Given the description of an element on the screen output the (x, y) to click on. 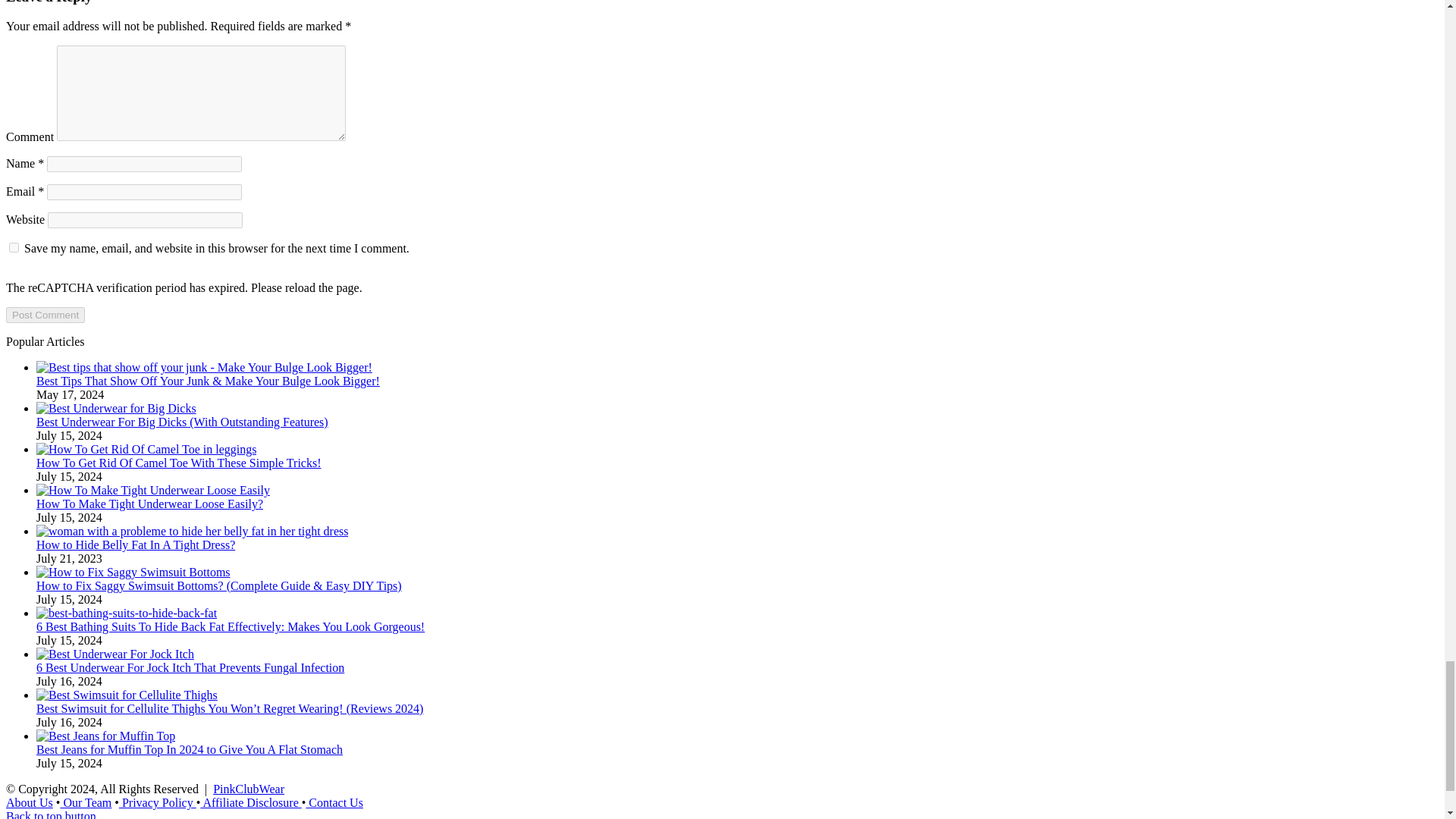
Post Comment (44, 314)
yes (13, 247)
